Given the description of an element on the screen output the (x, y) to click on. 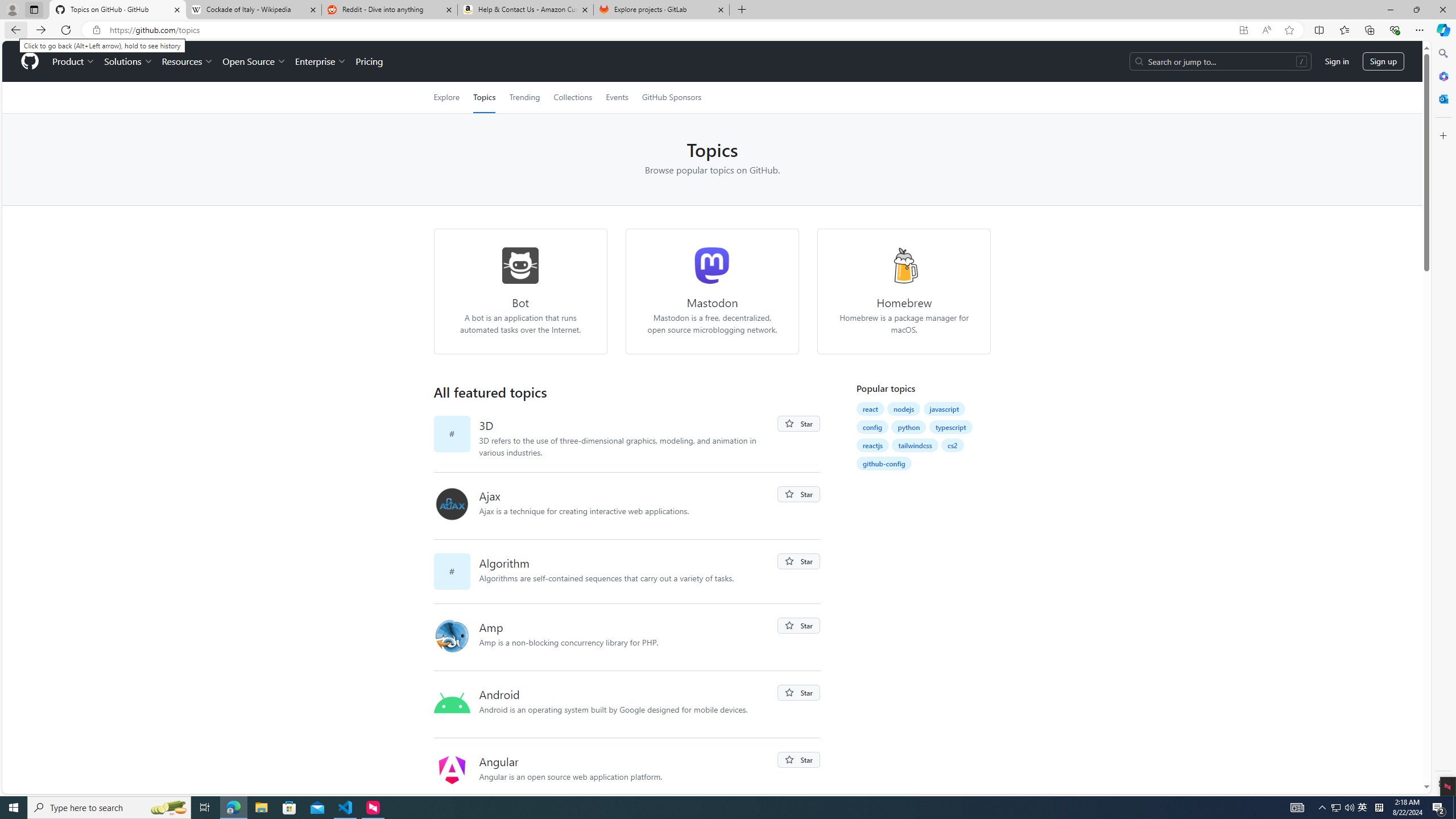
cs2 (951, 445)
Enterprise (319, 60)
Homepage (29, 61)
Solutions (128, 60)
Explore (446, 97)
homebrew Homebrew Homebrew is a package manager for macOS. (903, 291)
android (451, 702)
Cockade of Italy - Wikipedia (253, 9)
You must be signed in to star a repository (798, 759)
Enterprise (319, 60)
